Given the description of an element on the screen output the (x, y) to click on. 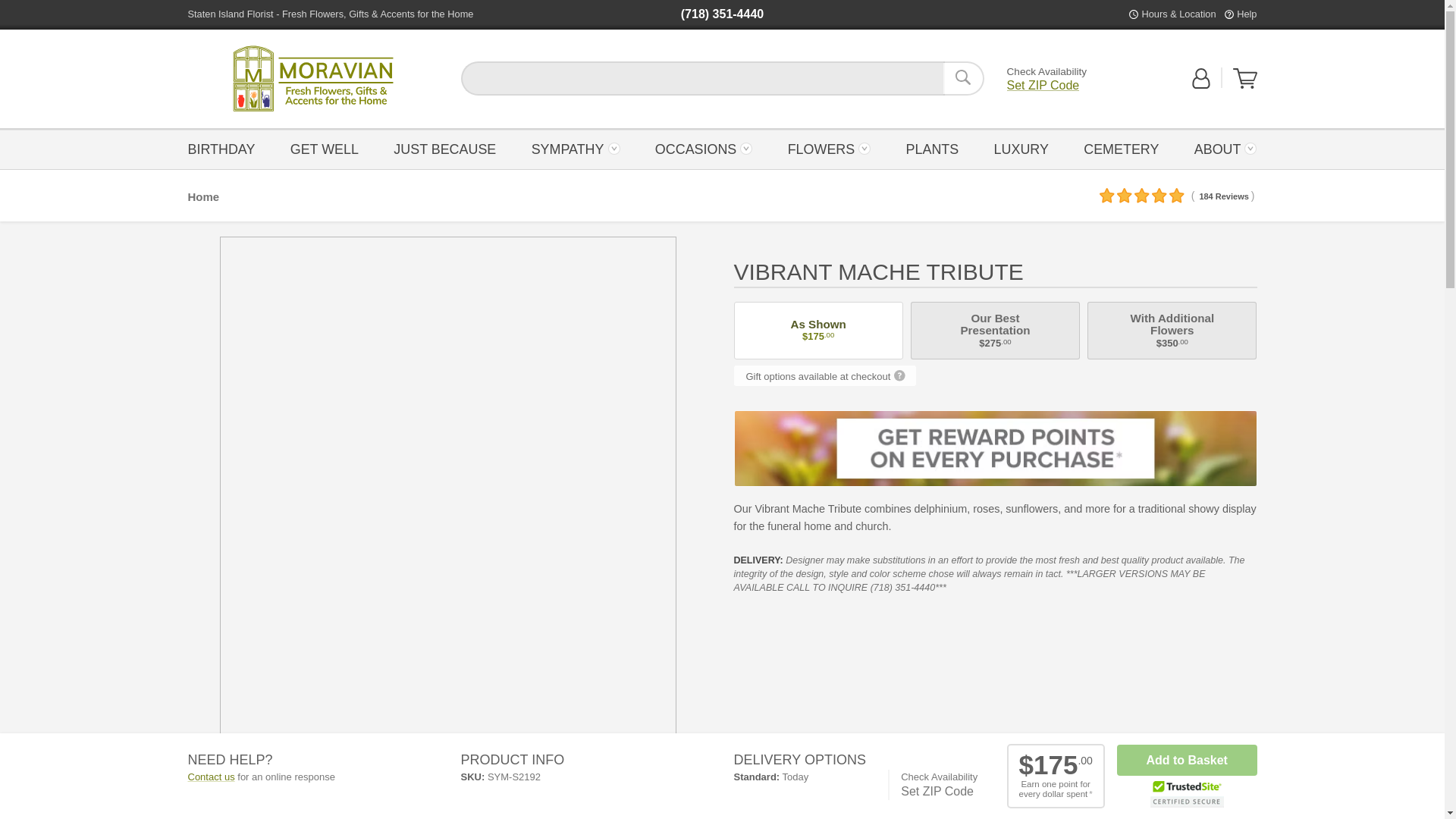
View Your Shopping Cart (1245, 78)
Set ZIP Code (1043, 85)
BIRTHDAY (225, 147)
GET WELL (325, 147)
Search (963, 78)
View Your Shopping Cart (1245, 85)
SYMPATHY (574, 147)
Help (312, 79)
Moravian Fresh Flowers Logo (1246, 13)
JUST BECAUSE (312, 79)
Back to the Home Page (444, 147)
